Given the description of an element on the screen output the (x, y) to click on. 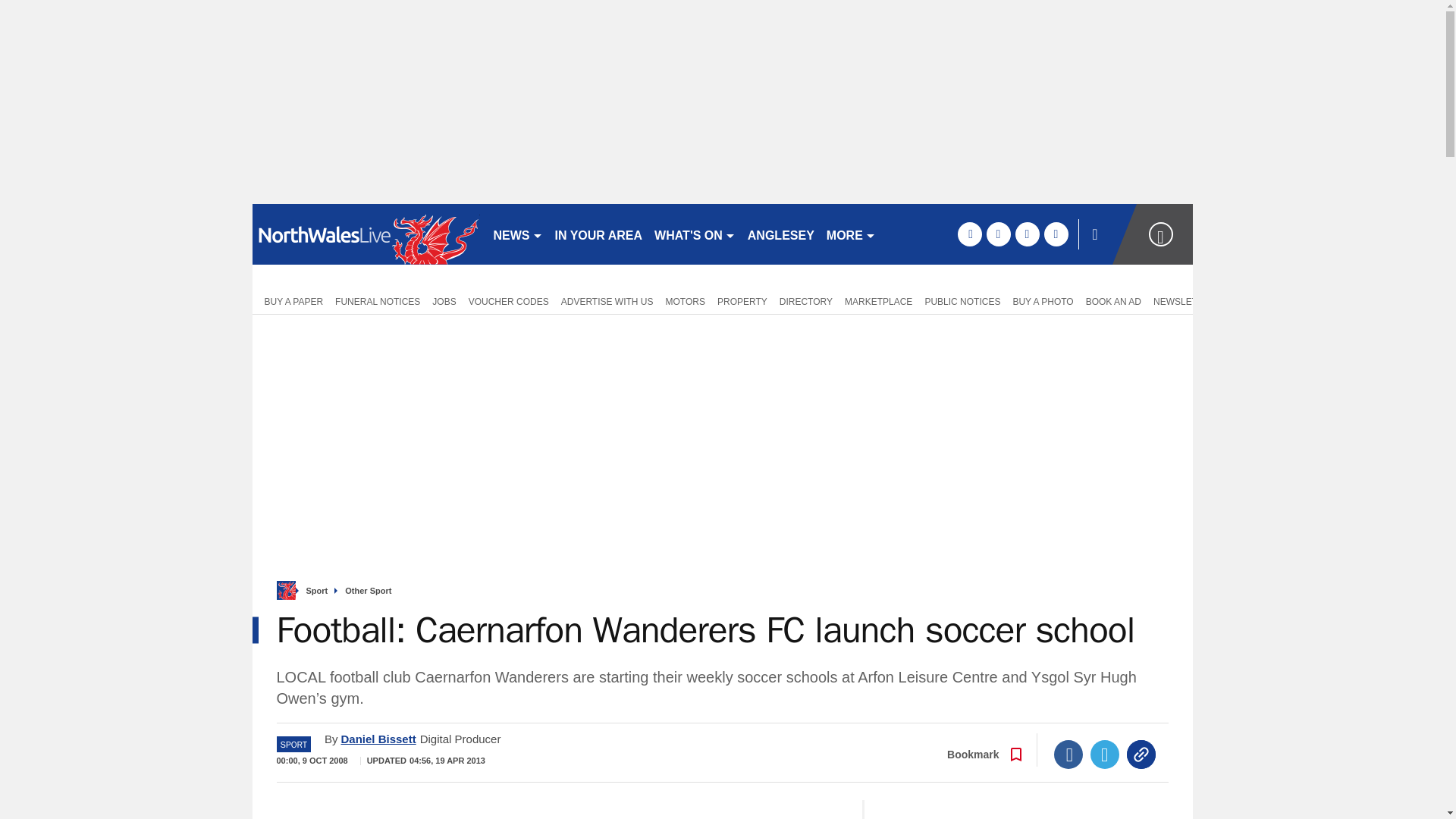
ANGLESEY (781, 233)
WHAT'S ON (694, 233)
northwales (365, 233)
instagram (1055, 233)
facebook (968, 233)
BUY A PAPER (290, 300)
VOUCHER CODES (508, 300)
pinterest (1026, 233)
Twitter (1104, 754)
FUNERAL NOTICES (377, 300)
